Given the description of an element on the screen output the (x, y) to click on. 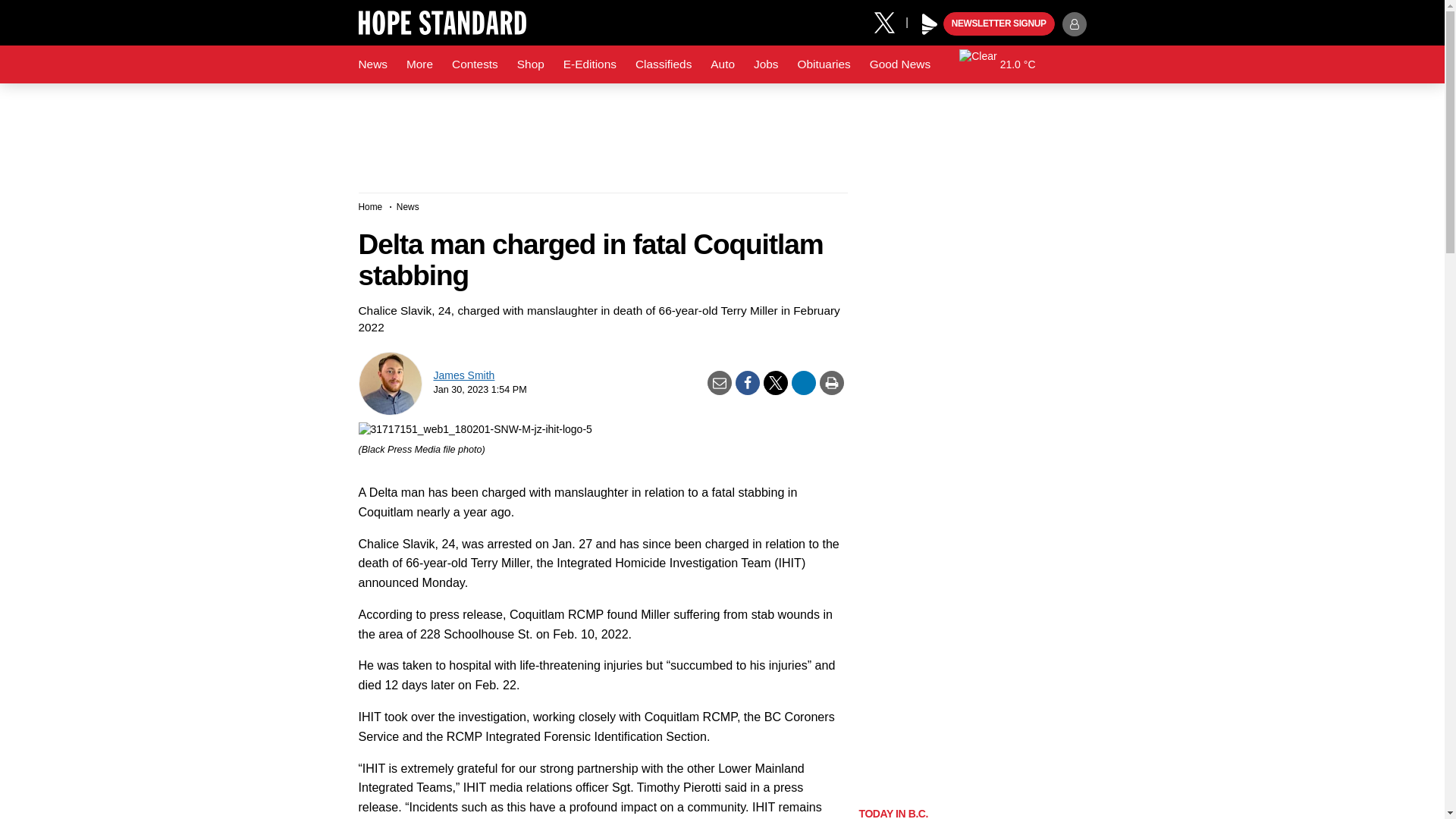
News (372, 64)
X (889, 21)
Black Press Media (929, 24)
Play (929, 24)
NEWSLETTER SIGNUP (998, 24)
